Given the description of an element on the screen output the (x, y) to click on. 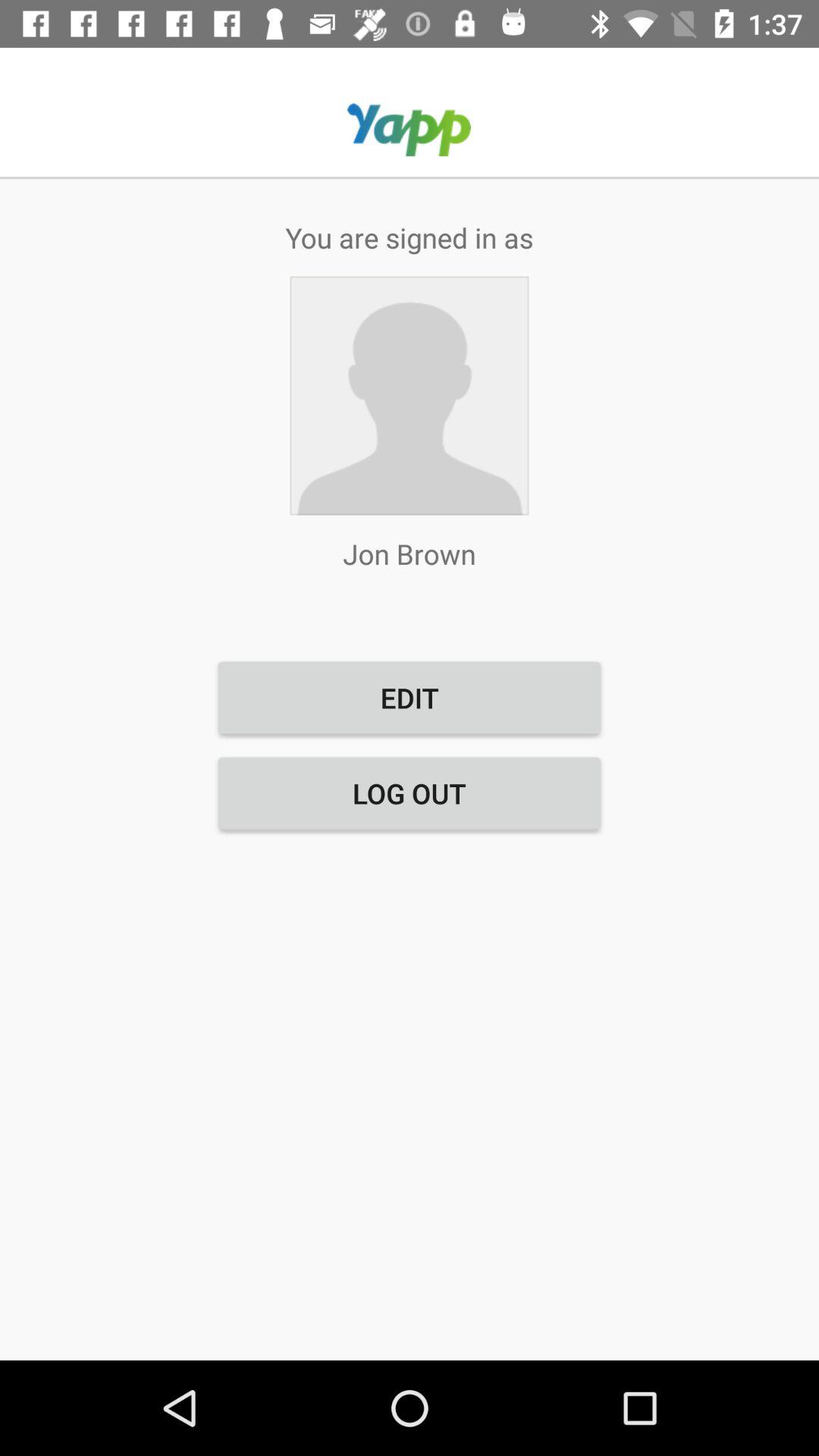
click the edit icon (409, 697)
